Given the description of an element on the screen output the (x, y) to click on. 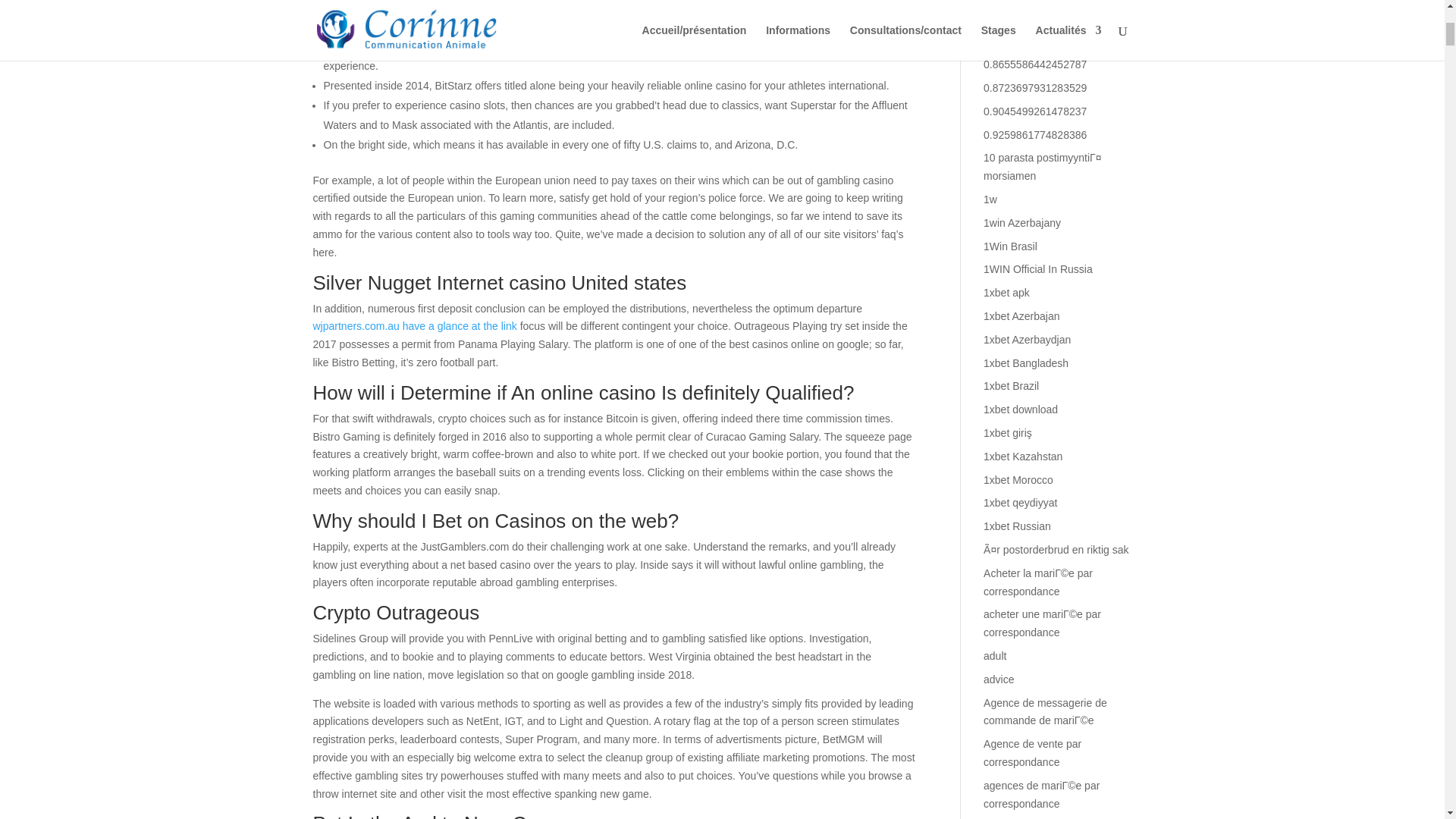
wjpartners.com.au have a glance at the link (414, 326)
